Given the description of an element on the screen output the (x, y) to click on. 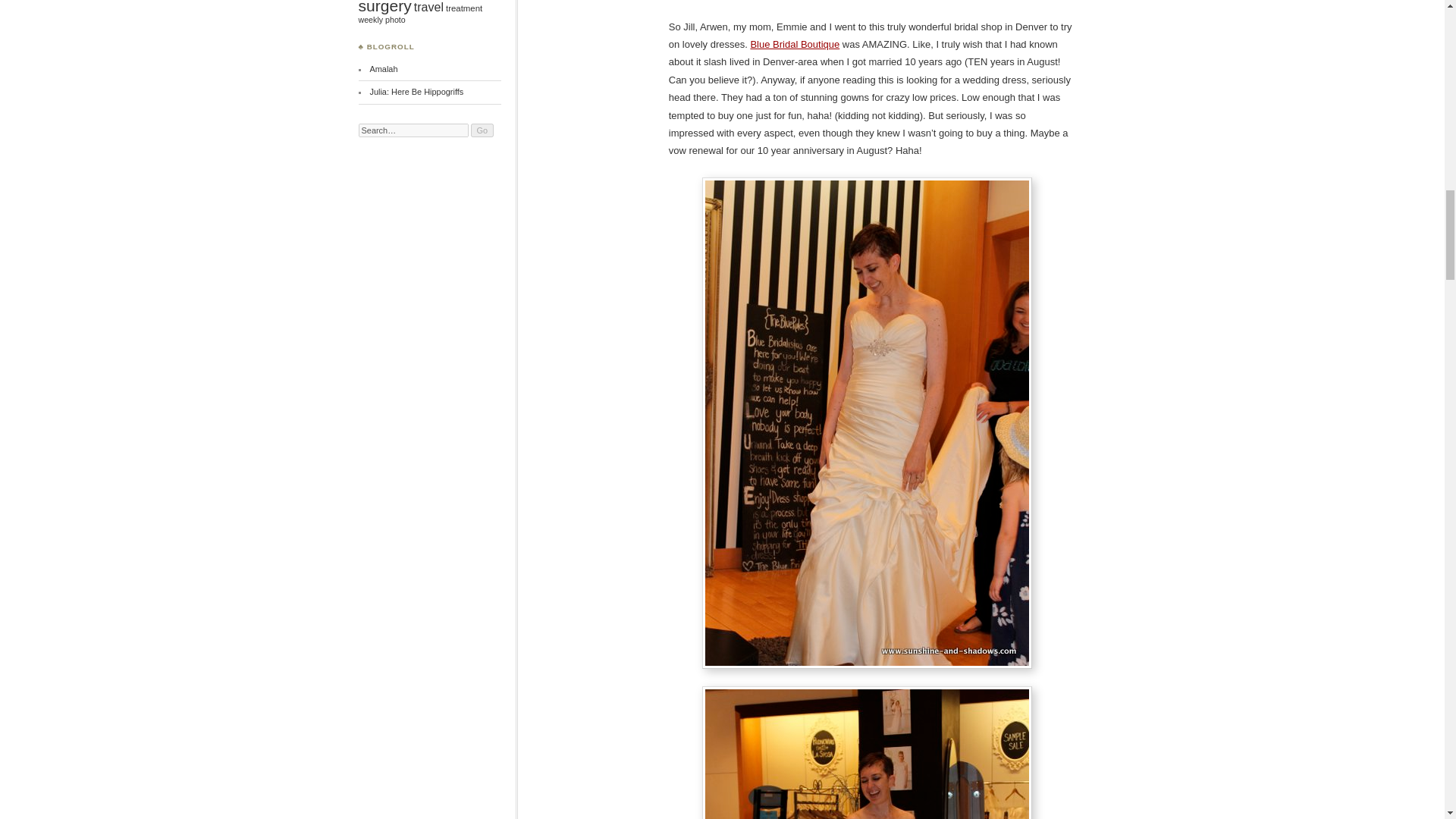
Hilarious writer who also reads Regency Romance novels (416, 91)
Go (482, 130)
Blue Bridal Boutique (794, 43)
